Given the description of an element on the screen output the (x, y) to click on. 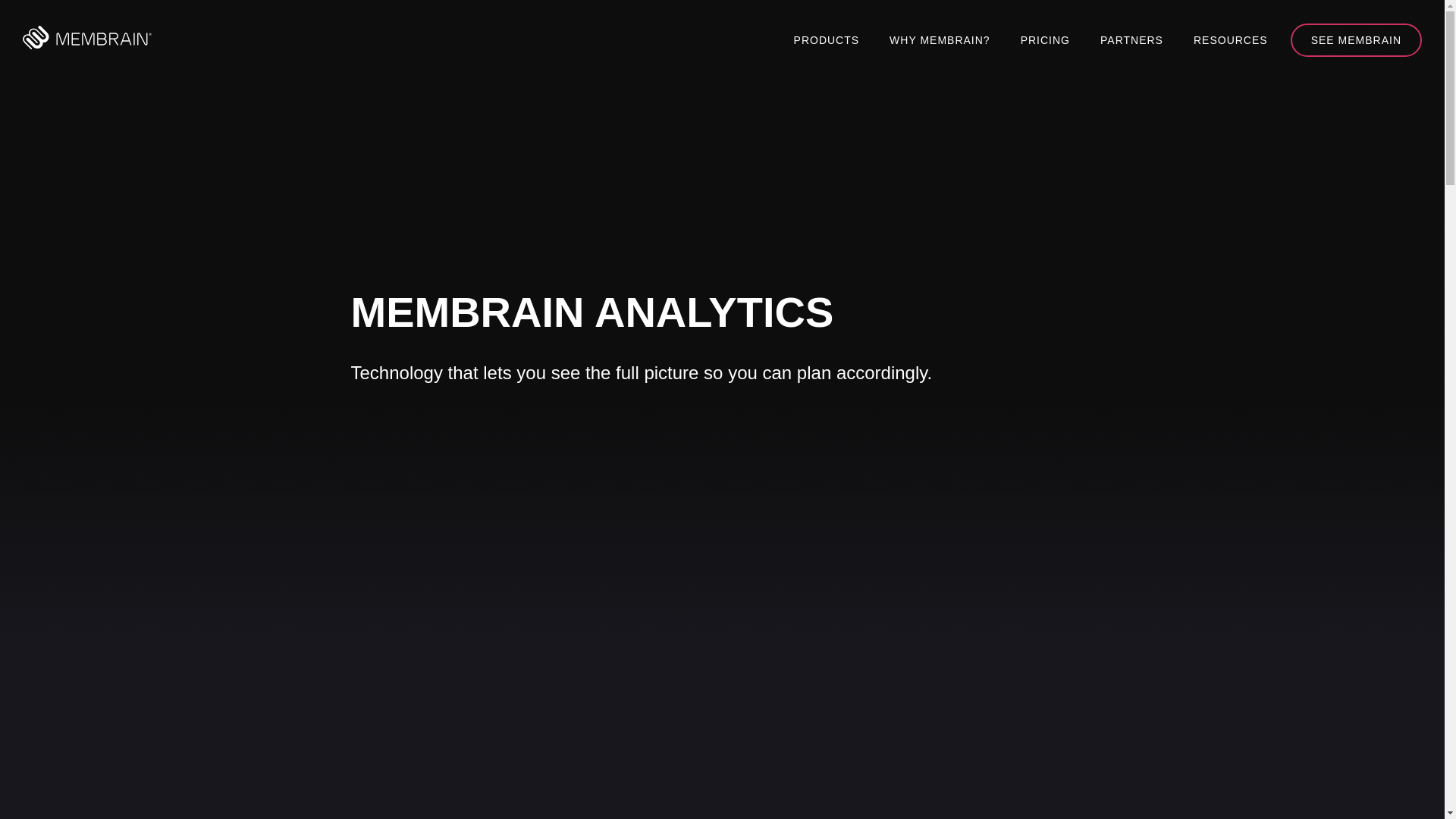
PARTNERS (1130, 39)
RESOURCES (1229, 39)
PRODUCTS (826, 39)
WHY MEMBRAIN? (940, 39)
SEE MEMBRAIN (1356, 39)
PRICING (1045, 39)
